Given the description of an element on the screen output the (x, y) to click on. 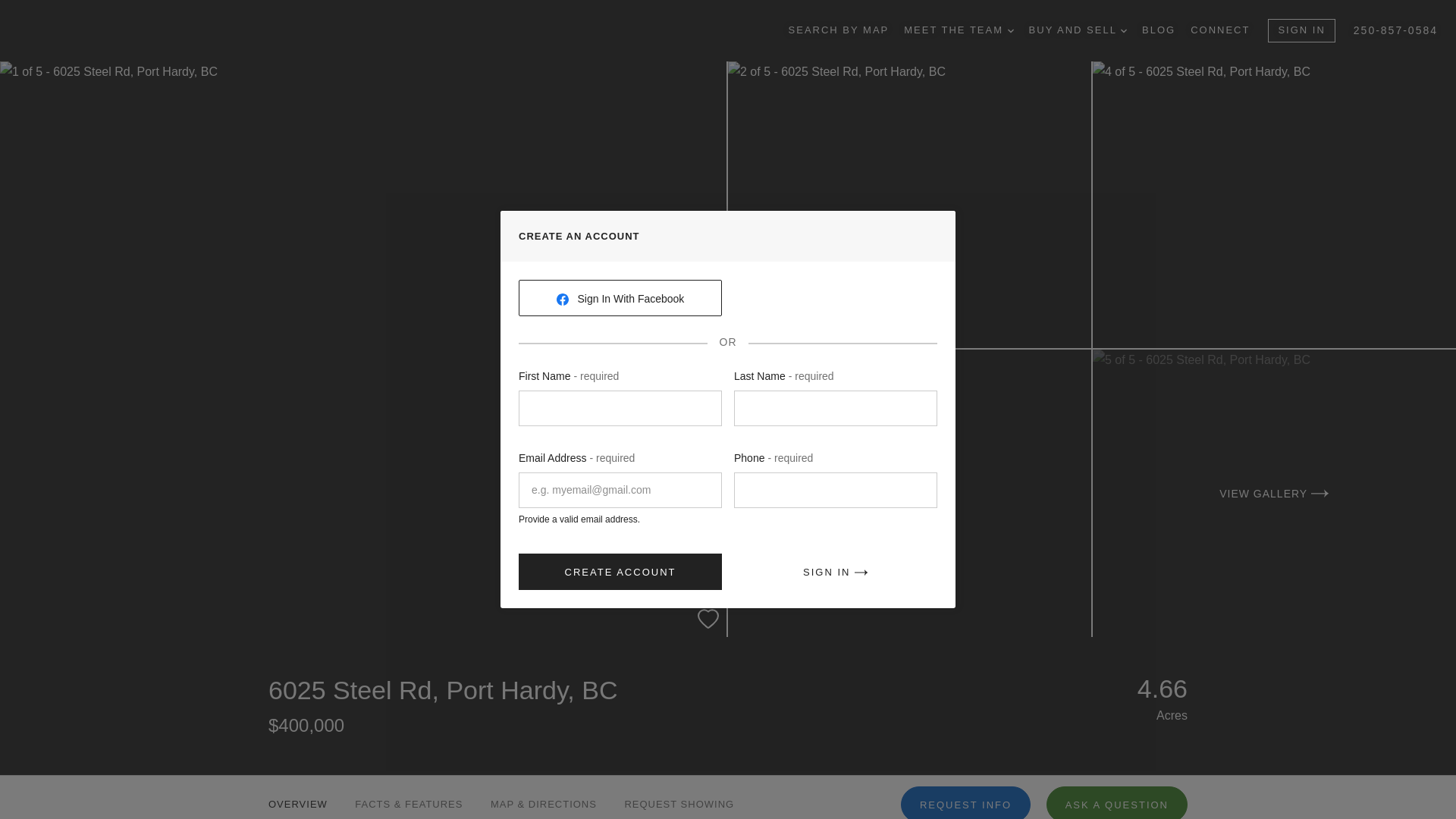
DROPDOWN ARROW (1123, 30)
REQUEST SHOWING (678, 797)
MEET THE TEAM DROPDOWN ARROW (958, 30)
REQUEST INFO (965, 802)
ASK A QUESTION (1117, 802)
OVERVIEW (297, 797)
BUY AND SELL DROPDOWN ARROW (1077, 30)
SEARCH BY MAP (839, 30)
BLOG (1157, 30)
250-857-0584 (1396, 29)
